Given the description of an element on the screen output the (x, y) to click on. 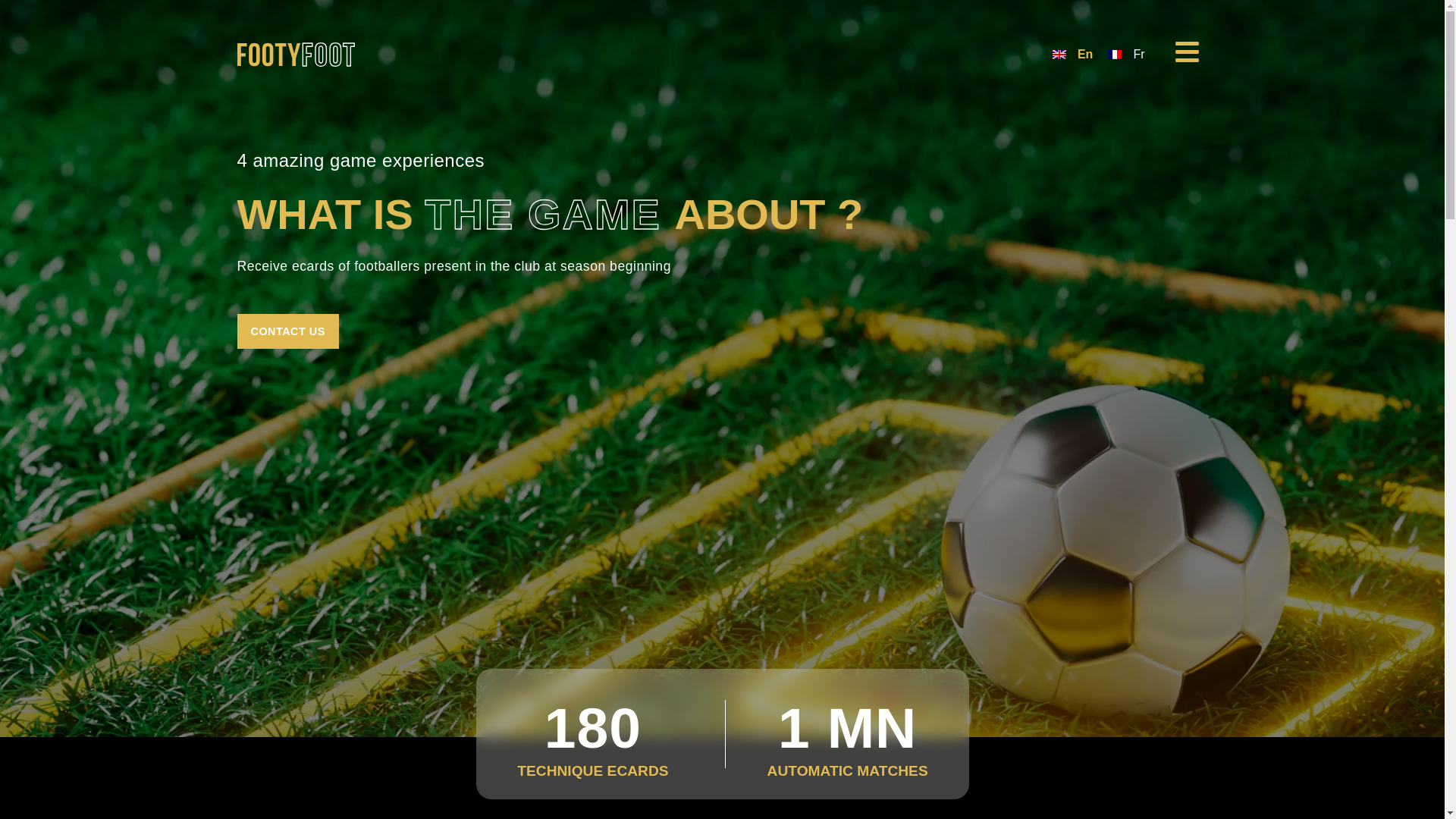
CONTACT US (286, 330)
Fr (1125, 54)
En (1072, 54)
